Given the description of an element on the screen output the (x, y) to click on. 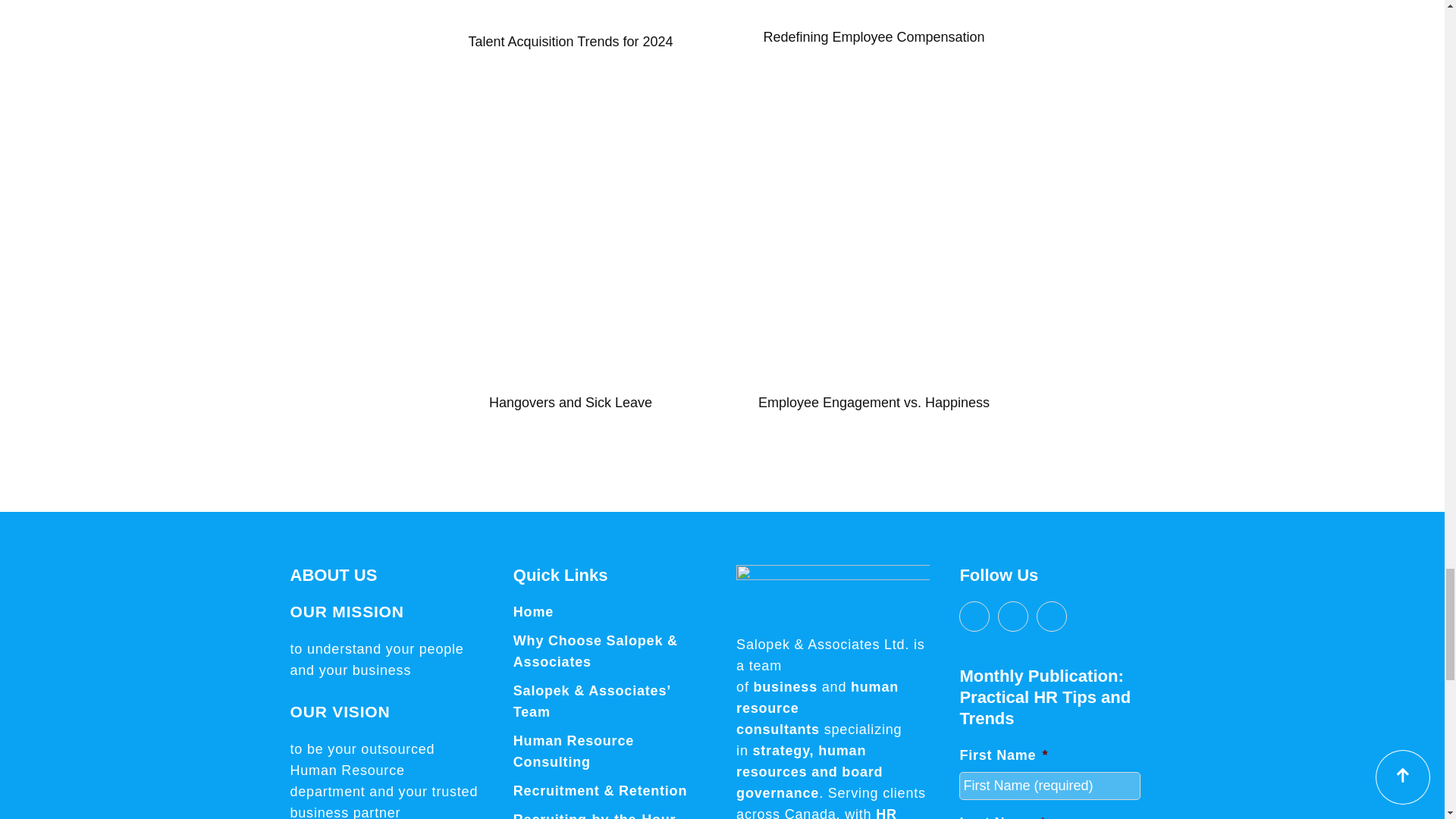
linkedin (1012, 616)
facebook (974, 616)
instagram (1051, 616)
